Given the description of an element on the screen output the (x, y) to click on. 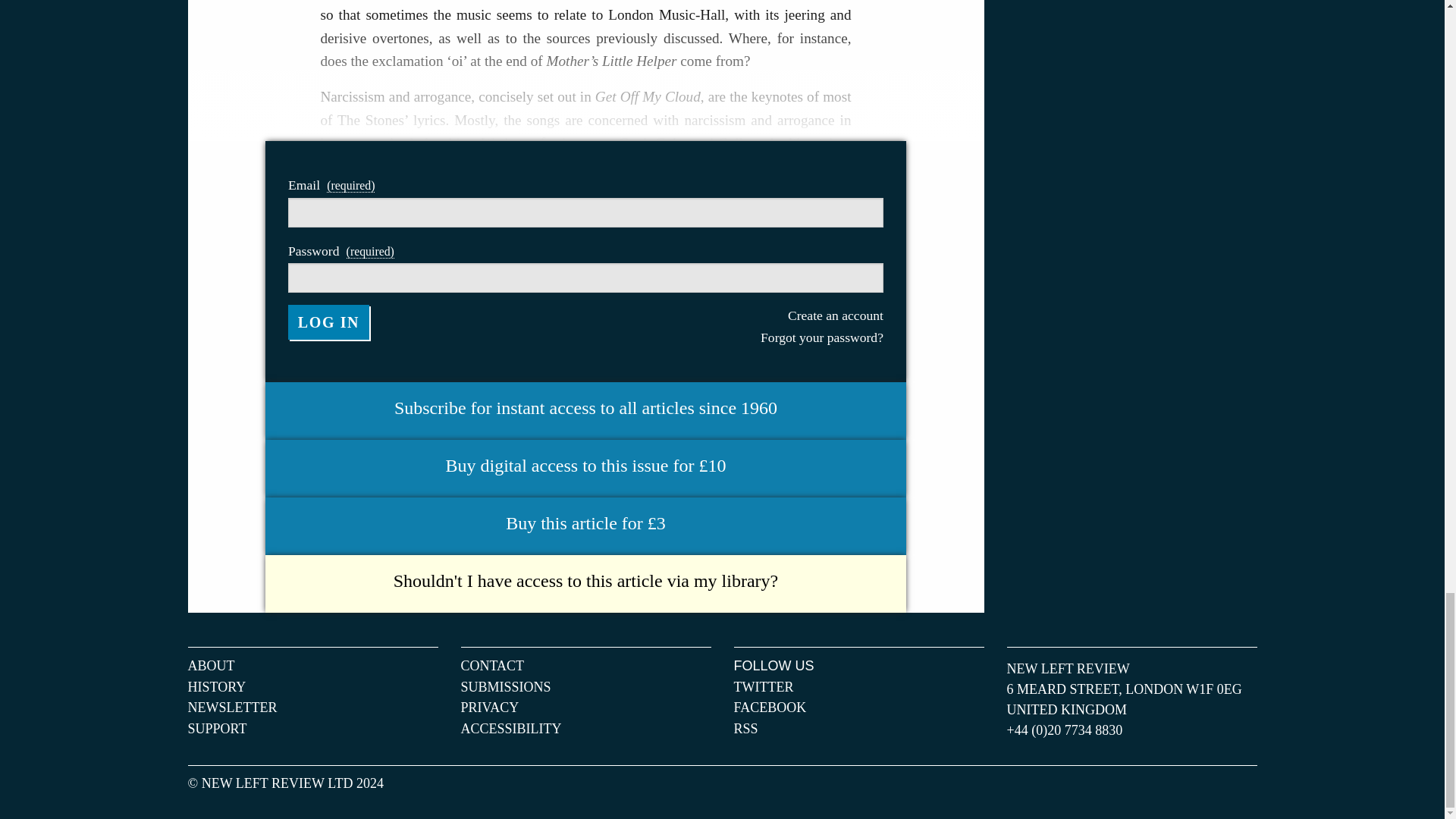
Forgot your password? (733, 337)
Subscribe for instant access to all articles since 1960 (585, 407)
you must complete this field (350, 185)
Log in (328, 321)
Create an account (733, 314)
Log in (328, 321)
Shouldn't I have access to this article via my library? (585, 580)
you must complete this field (370, 251)
